Given the description of an element on the screen output the (x, y) to click on. 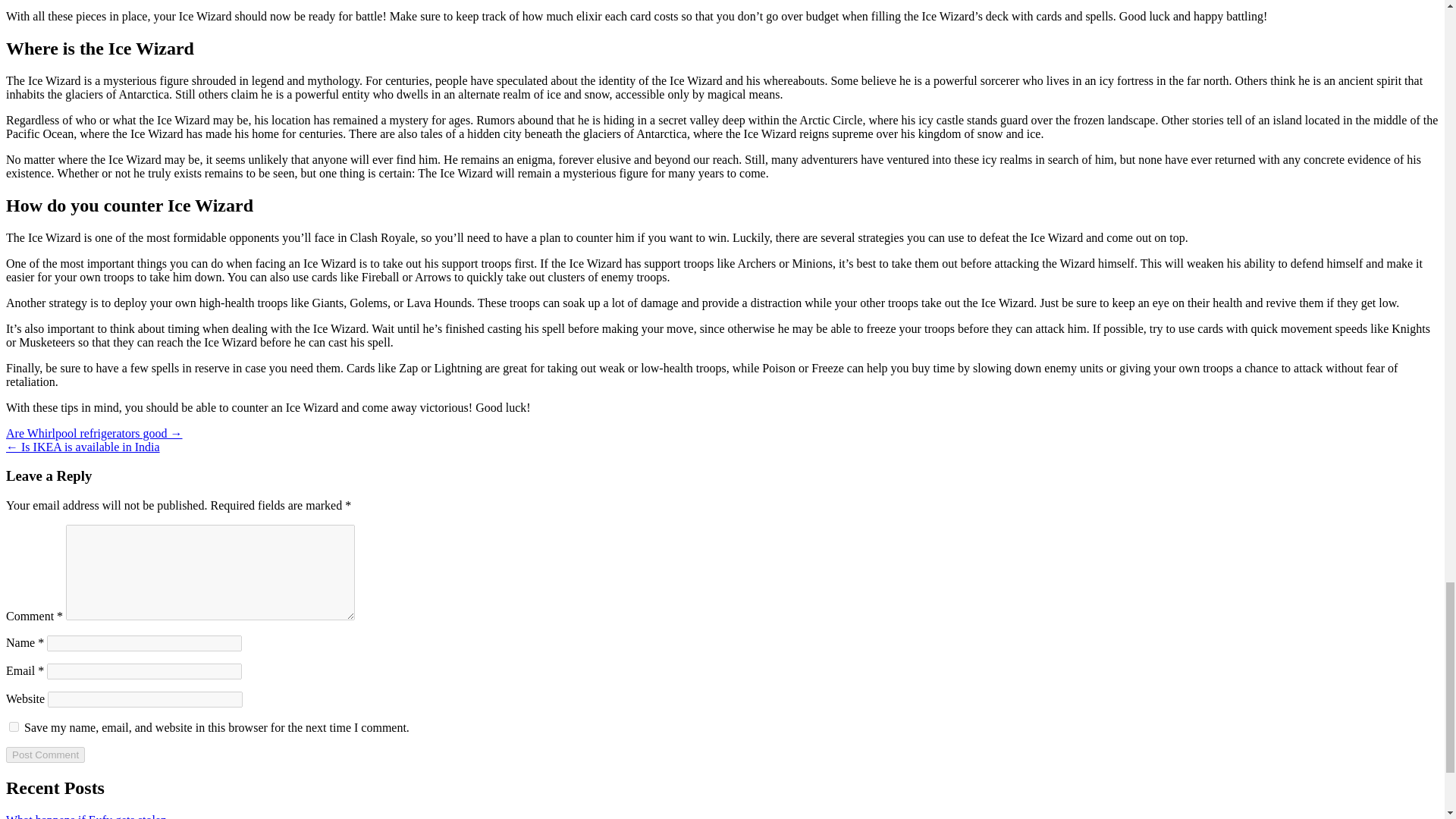
yes (13, 726)
Post Comment (44, 754)
What happens if Eufy gets stolen (86, 816)
Post Comment (44, 754)
